Given the description of an element on the screen output the (x, y) to click on. 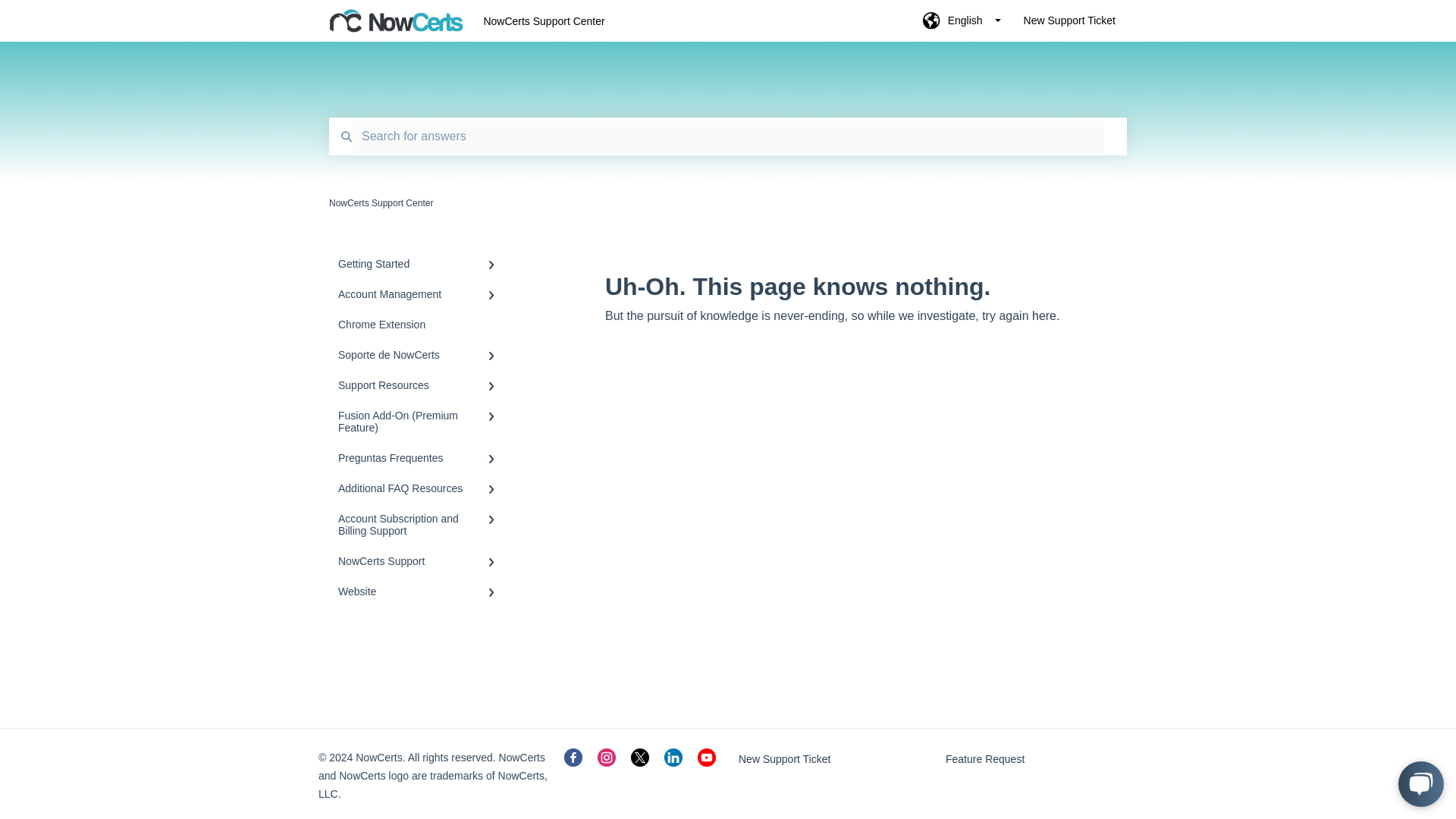
English (962, 25)
New Support Ticket (1069, 25)
NowCerts Support Center (679, 21)
